Given the description of an element on the screen output the (x, y) to click on. 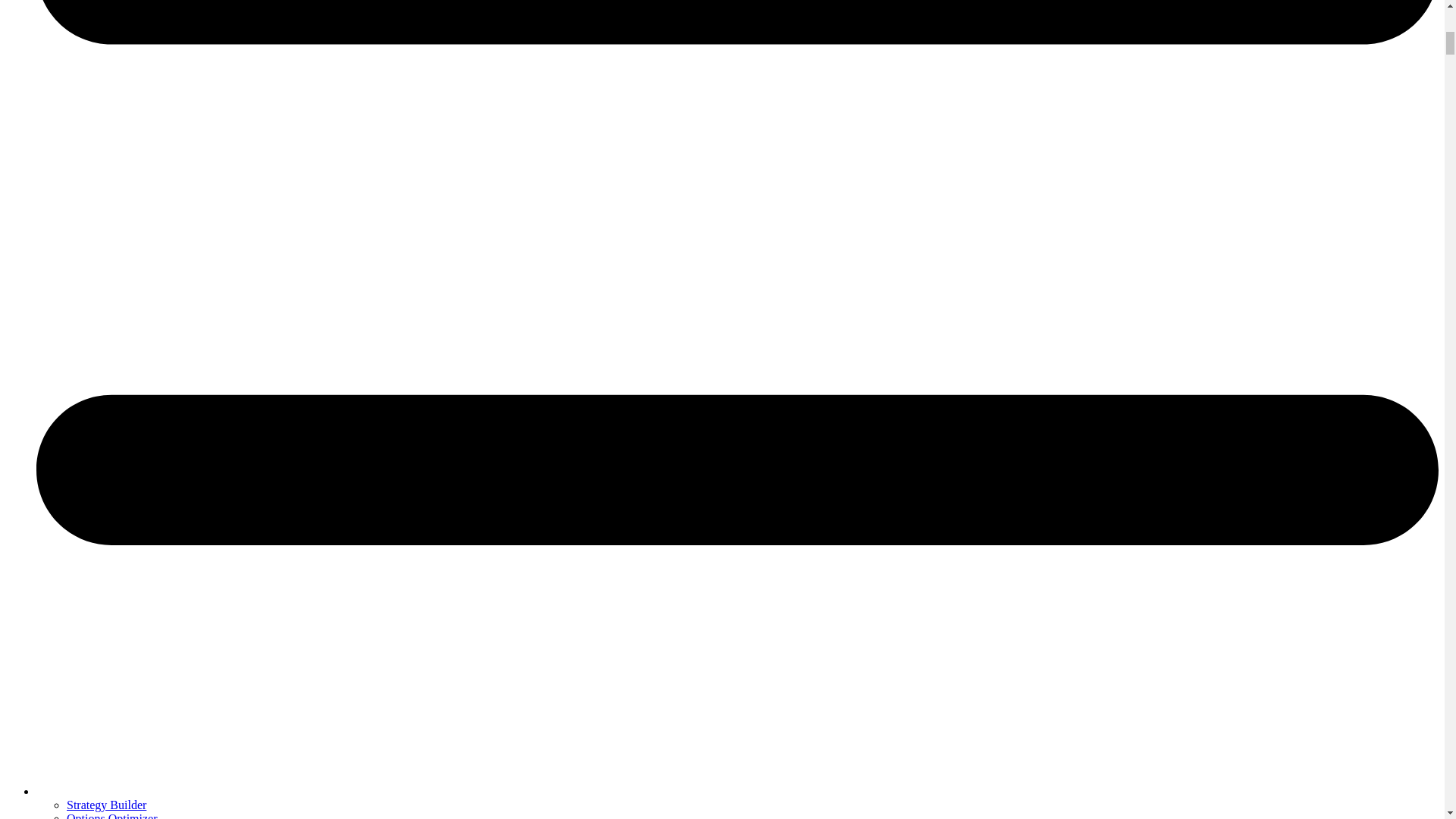
Options Optimizer (111, 815)
Strategy Builder (106, 804)
